Given the description of an element on the screen output the (x, y) to click on. 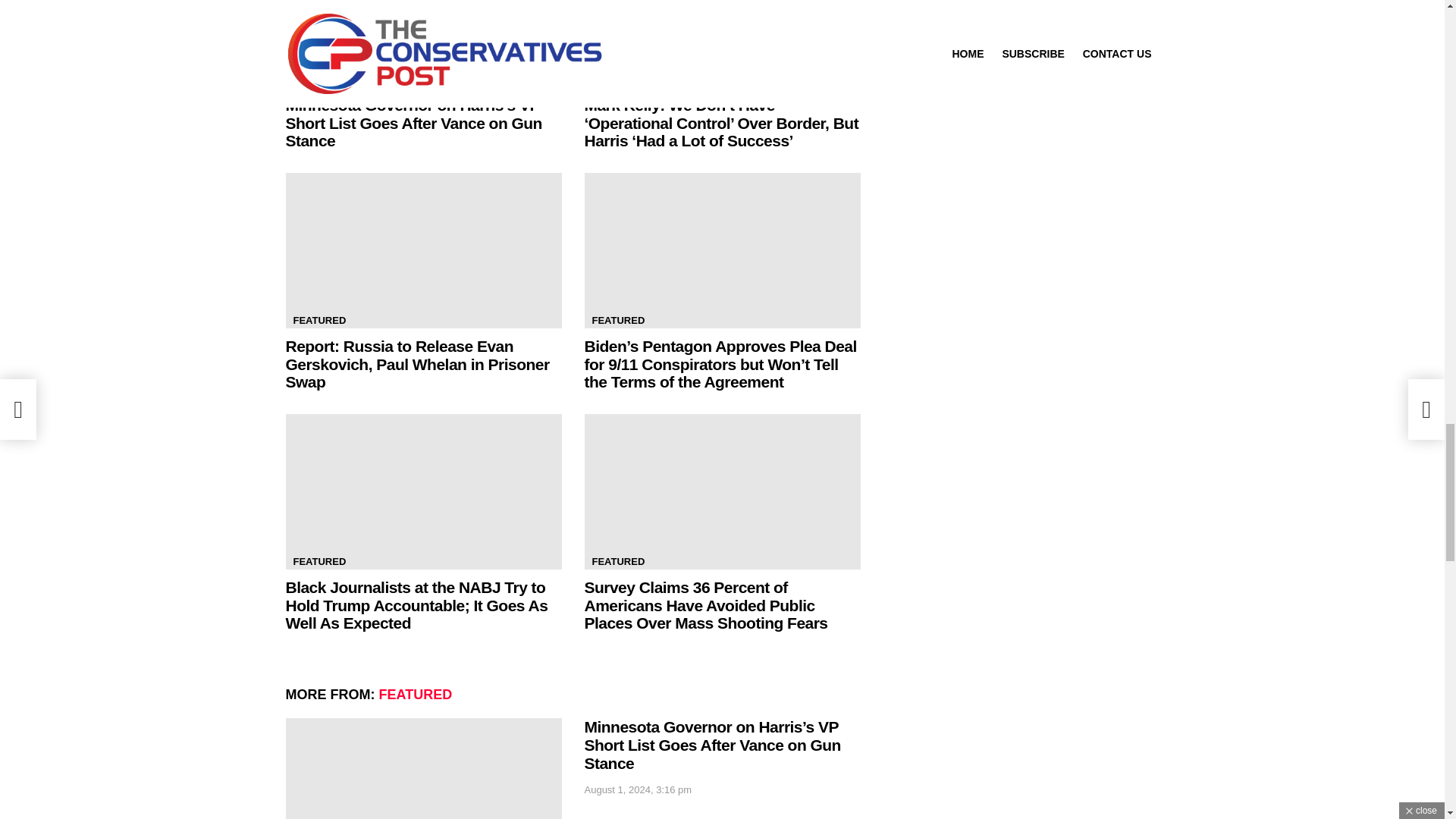
FEATURED (617, 79)
FEATURED (319, 320)
FEATURED (319, 79)
FEATURED (617, 320)
